Given the description of an element on the screen output the (x, y) to click on. 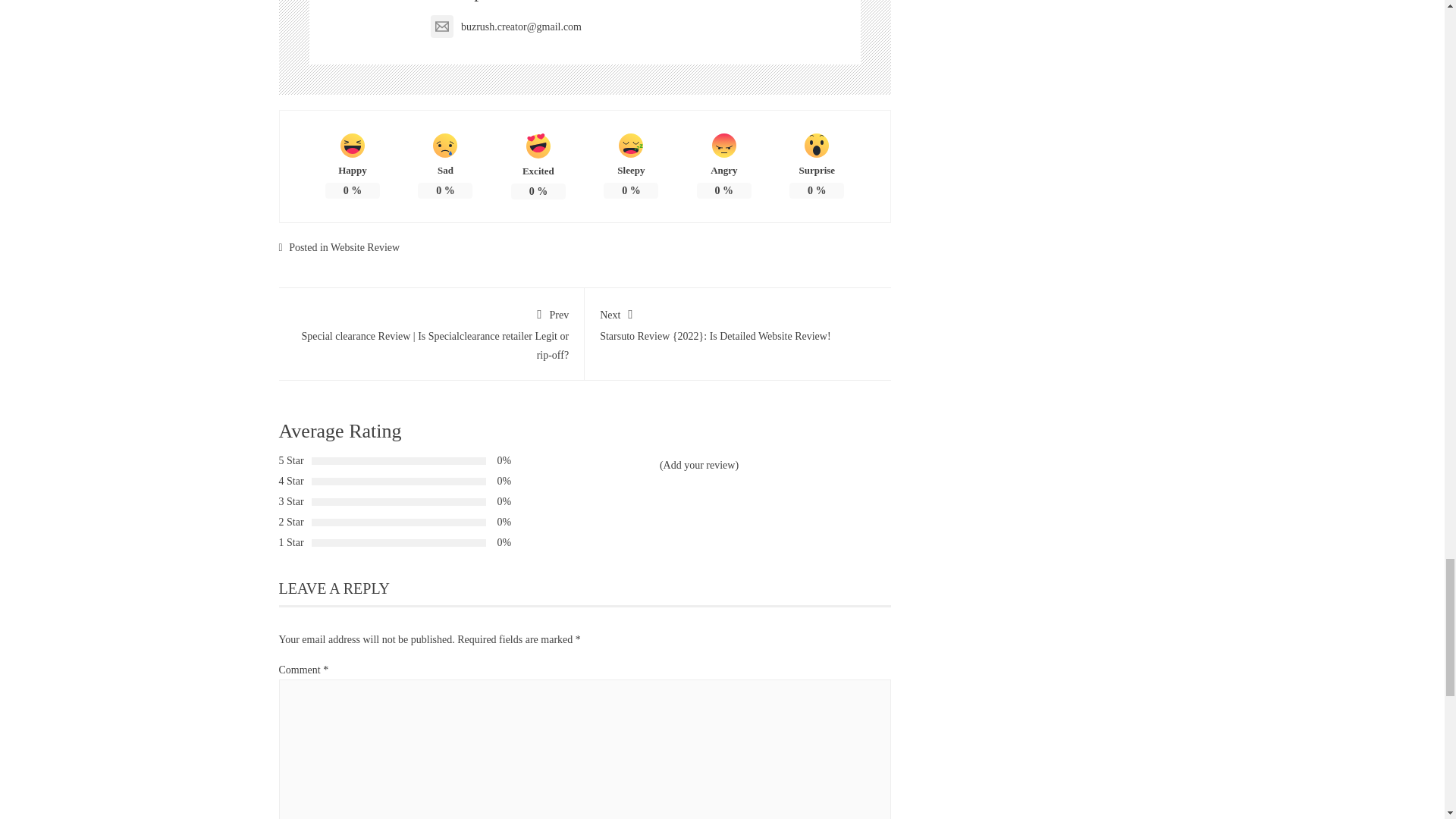
Thompson (469, 0)
